Given the description of an element on the screen output the (x, y) to click on. 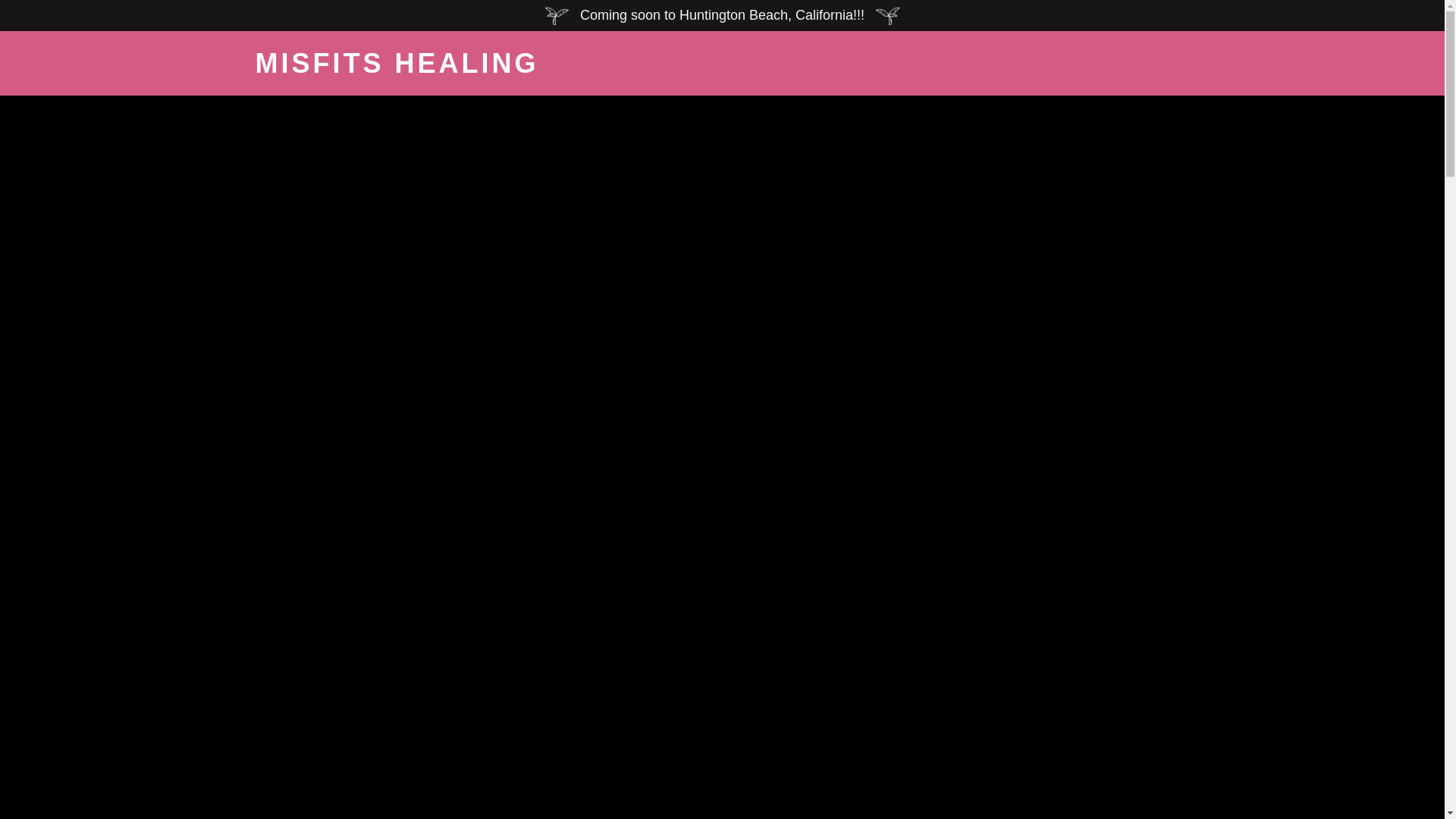
MISFITS HEALING (417, 68)
MISFITS HEALING (417, 68)
